Given the description of an element on the screen output the (x, y) to click on. 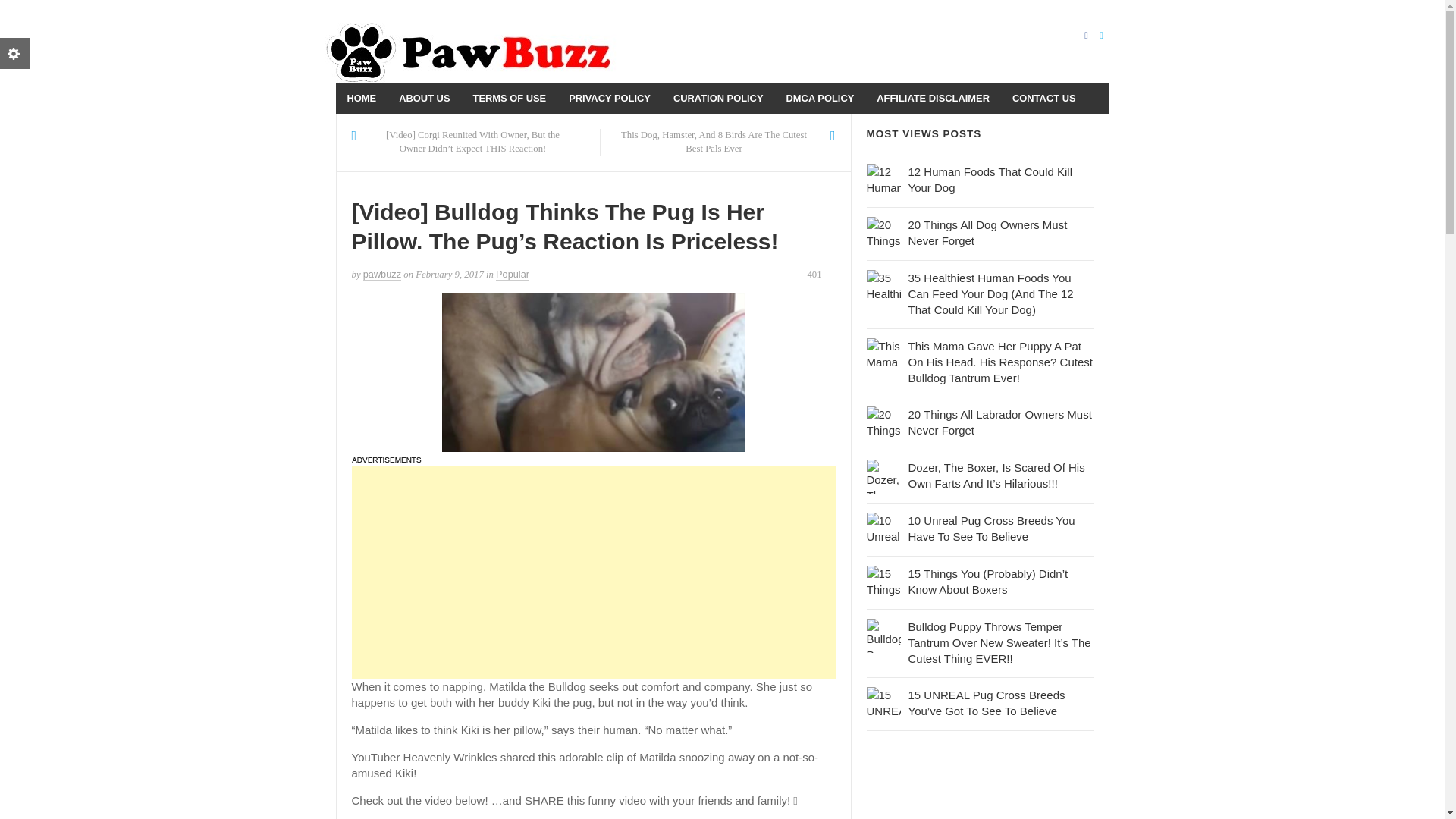
Facebook (1085, 33)
TERMS OF USE (509, 98)
PRIVACY POLICY (609, 98)
CURATION POLICY (718, 98)
401 (820, 274)
DMCA POLICY (820, 98)
This Dog, Hamster, And 8 Birds Are The Cutest Best Pals Ever (713, 142)
HOME (360, 98)
Popular (512, 274)
CONTACT US (1044, 98)
Twitter (1100, 33)
pawbuzz (381, 274)
AFFILIATE DISCLAIMER (932, 98)
February 9, 2017 (448, 274)
ABOUT US (424, 98)
